Given the description of an element on the screen output the (x, y) to click on. 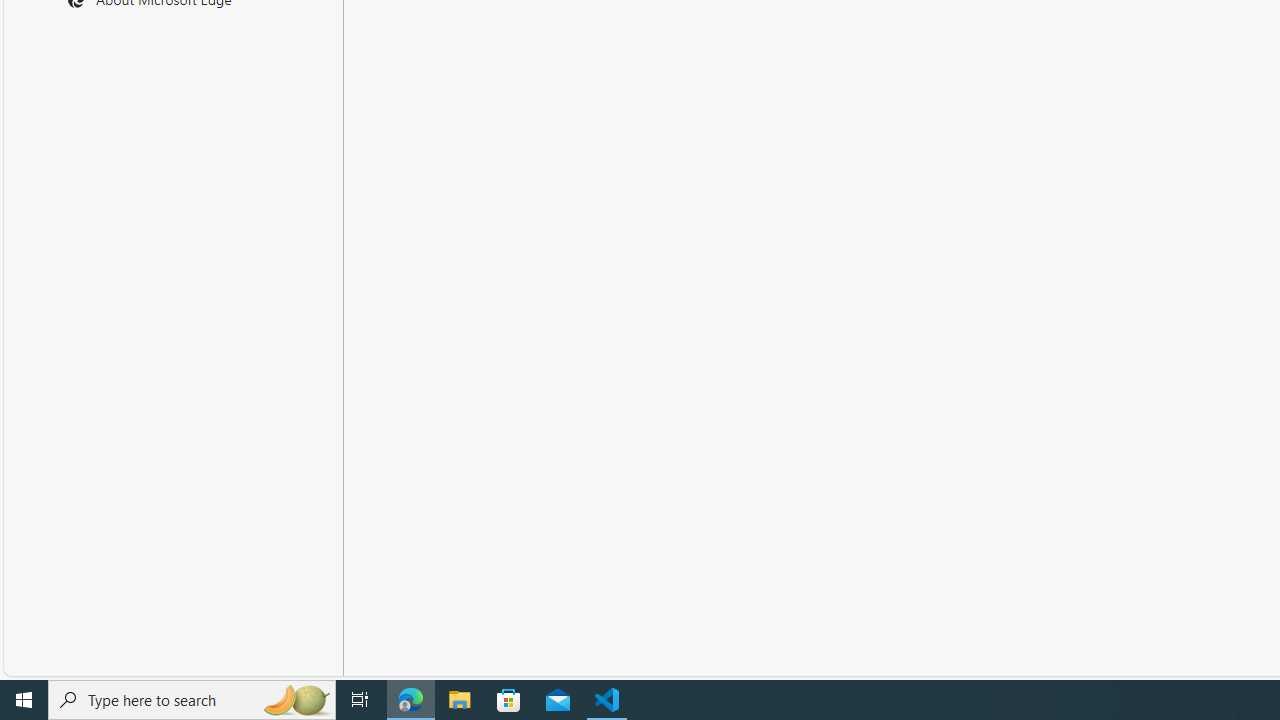
Task View (359, 699)
Type here to search (191, 699)
Start (24, 699)
Microsoft Store (509, 699)
Microsoft Edge - 1 running window (411, 699)
File Explorer (460, 699)
Visual Studio Code - 1 running window (607, 699)
Search highlights icon opens search home window (295, 699)
